Given the description of an element on the screen output the (x, y) to click on. 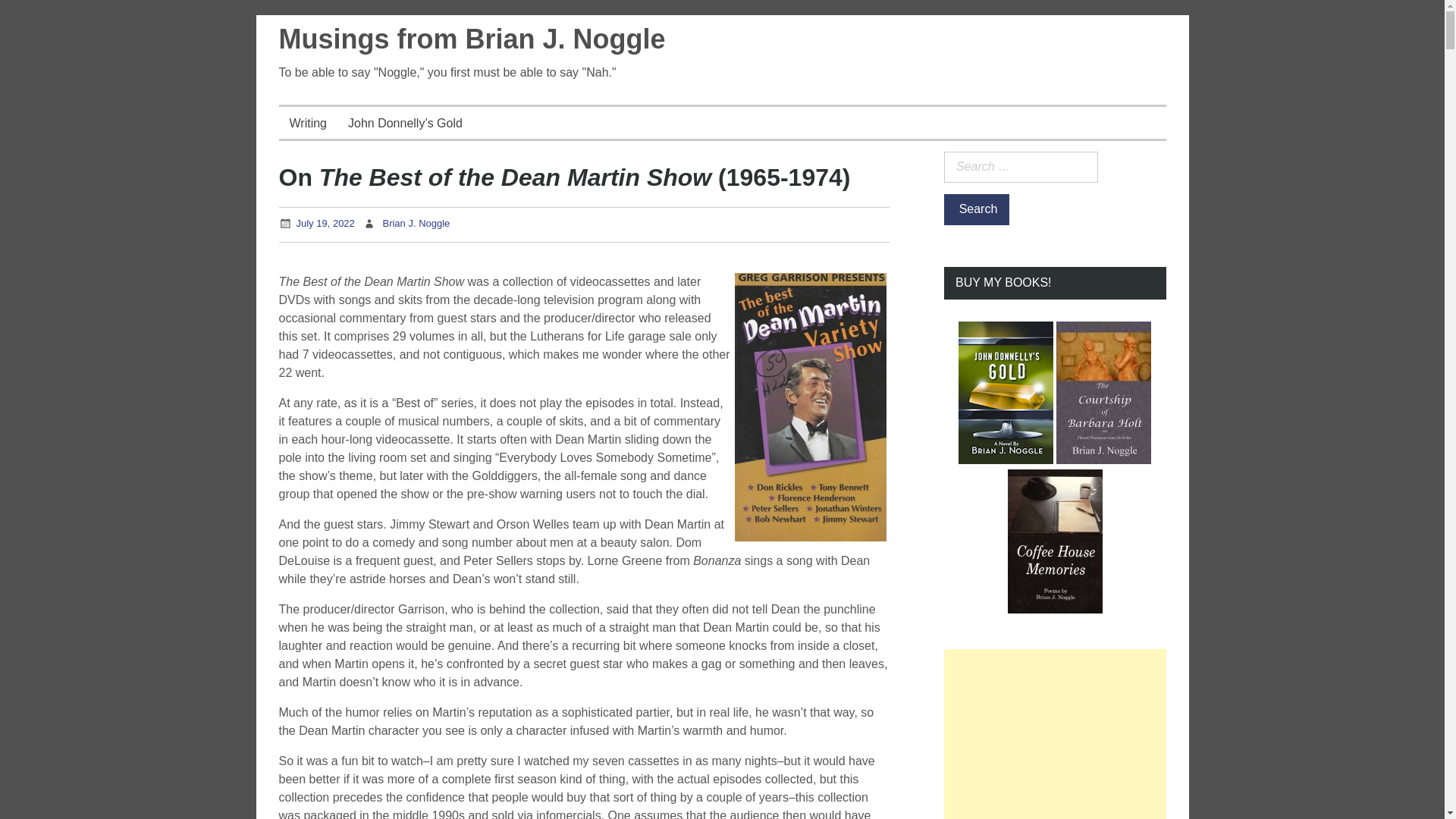
Search (976, 209)
Musings from Brian J. Noggle (472, 38)
July 19, 2022 (324, 223)
Brian J. Noggle (415, 223)
Writing (308, 122)
Advertisement (1054, 734)
Search (976, 209)
Search (976, 209)
